Given the description of an element on the screen output the (x, y) to click on. 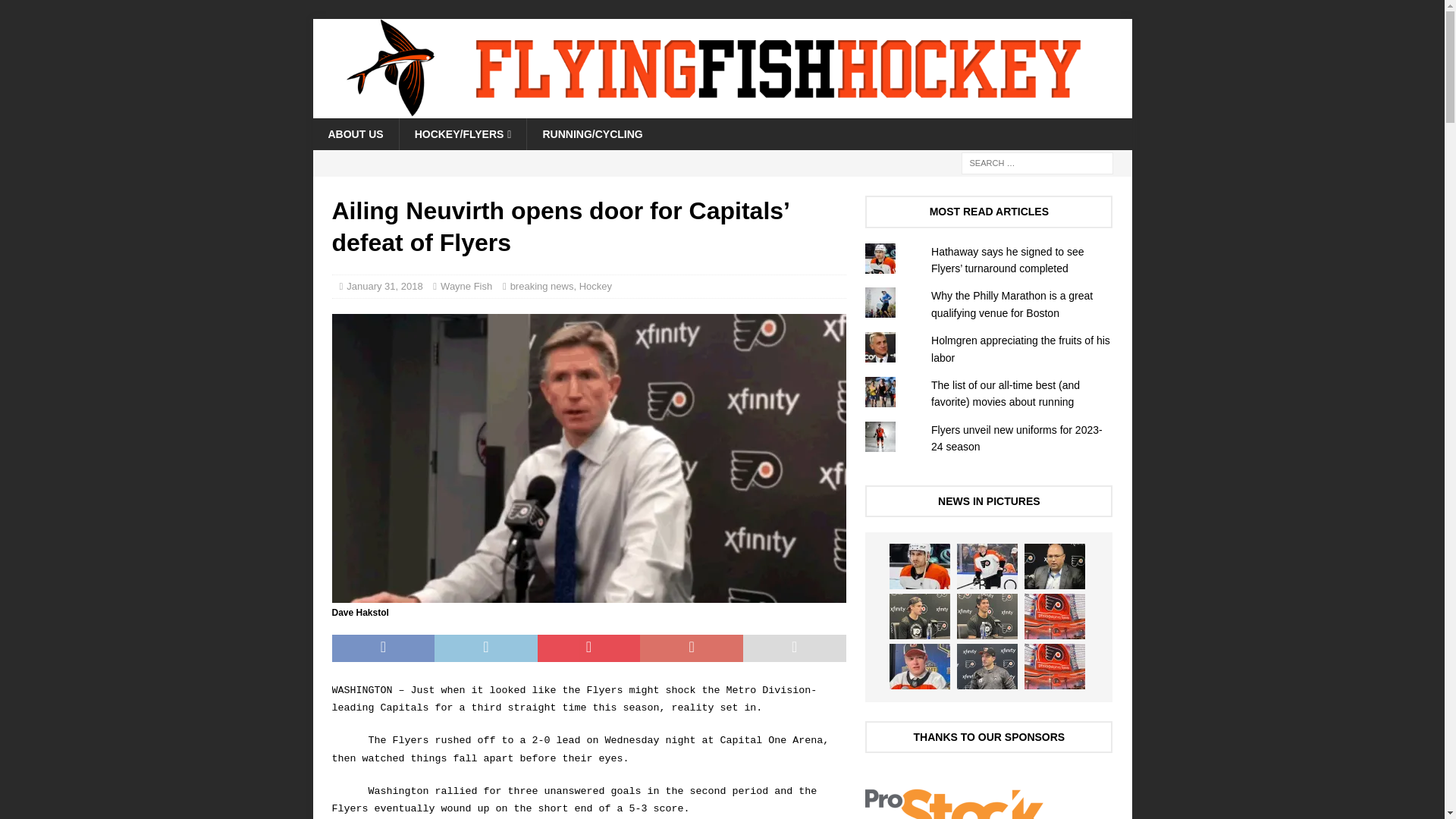
January 31, 2018 (384, 285)
Holmgren appreciating the fruits of his labor (1020, 348)
Wayne Fish (466, 285)
FlyingFishHockey (722, 110)
breaking news (542, 285)
ABOUT US (355, 133)
Search (56, 11)
Hockey (595, 285)
